Given the description of an element on the screen output the (x, y) to click on. 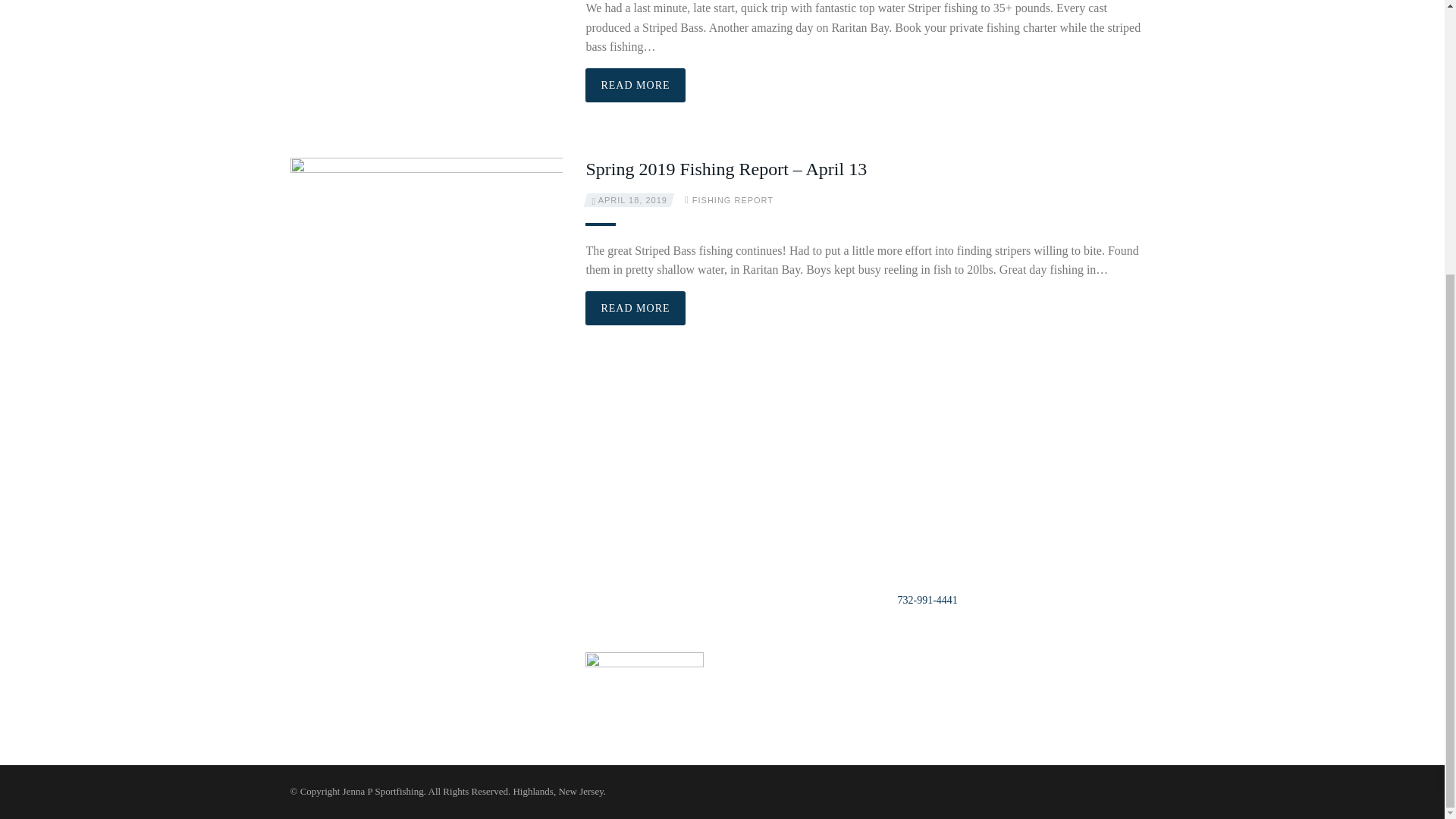
FISHING REPORT (733, 199)
READ MORE (634, 308)
READ MORE (634, 84)
